Given the description of an element on the screen output the (x, y) to click on. 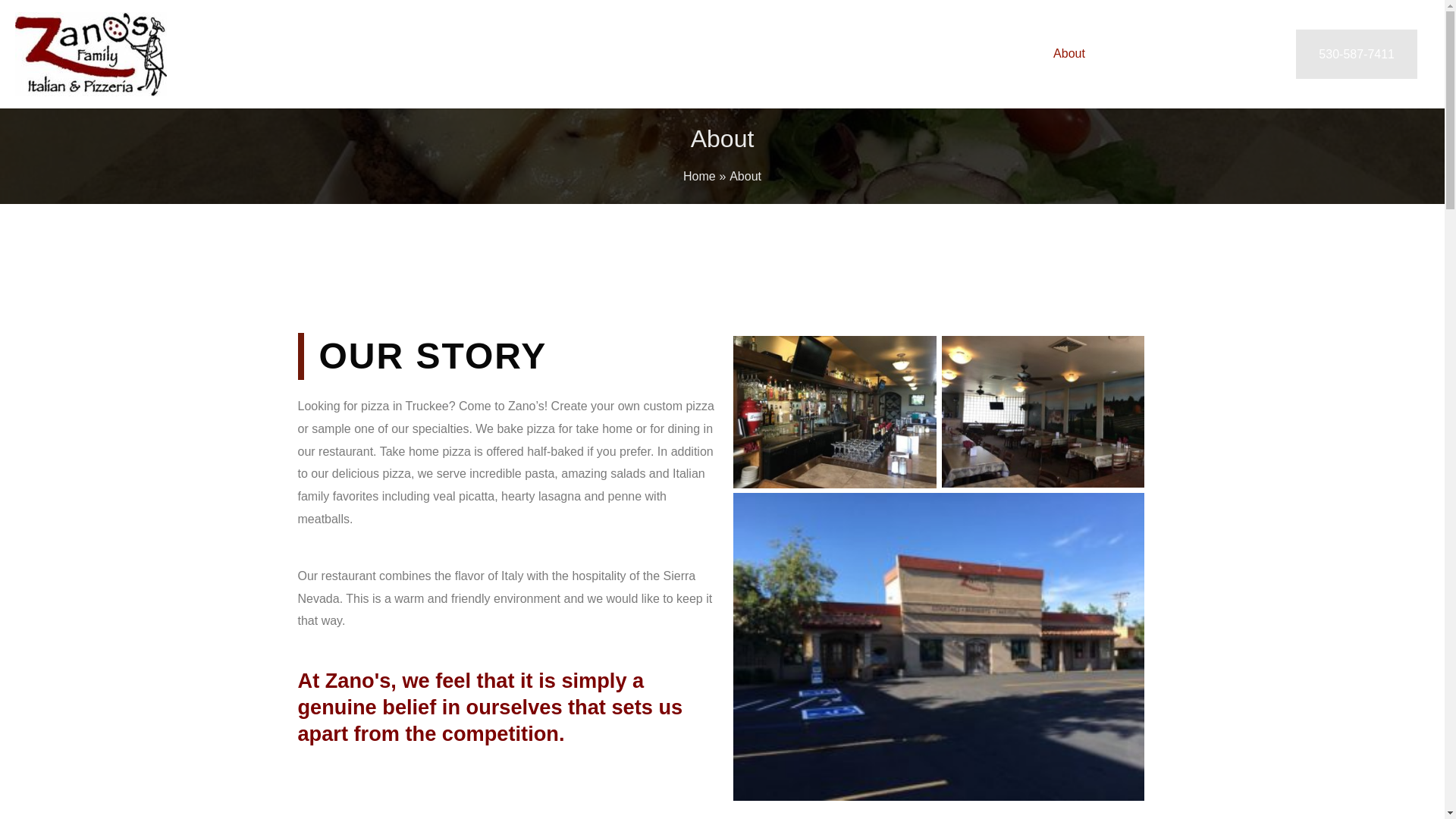
About (1069, 54)
Home (699, 175)
Jobs (1192, 54)
Contact (1250, 54)
Menus (1133, 54)
Home (1012, 54)
530-587-7411 (1355, 54)
